Given the description of an element on the screen output the (x, y) to click on. 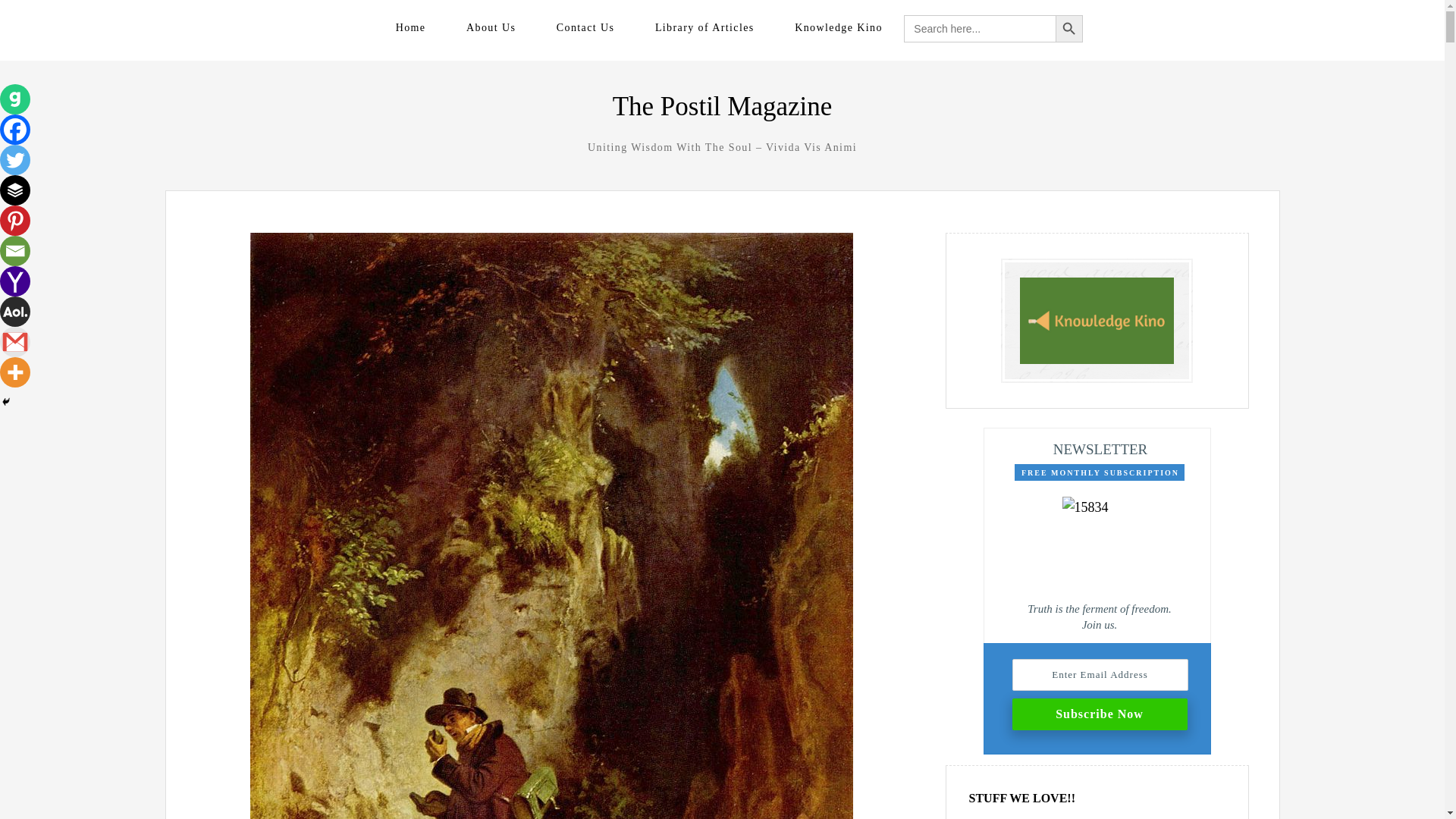
Hide (5, 401)
More (15, 372)
Buffer (15, 190)
Home (411, 27)
Pinterest (15, 220)
Gab (15, 99)
Facebook (15, 129)
Email (15, 250)
Skip to content (224, 26)
Library of Articles (704, 27)
Knowledge Kino (838, 27)
Twitter (15, 159)
Skip to content (224, 26)
Yahoo Mail (15, 281)
Contact Us (585, 27)
